Given the description of an element on the screen output the (x, y) to click on. 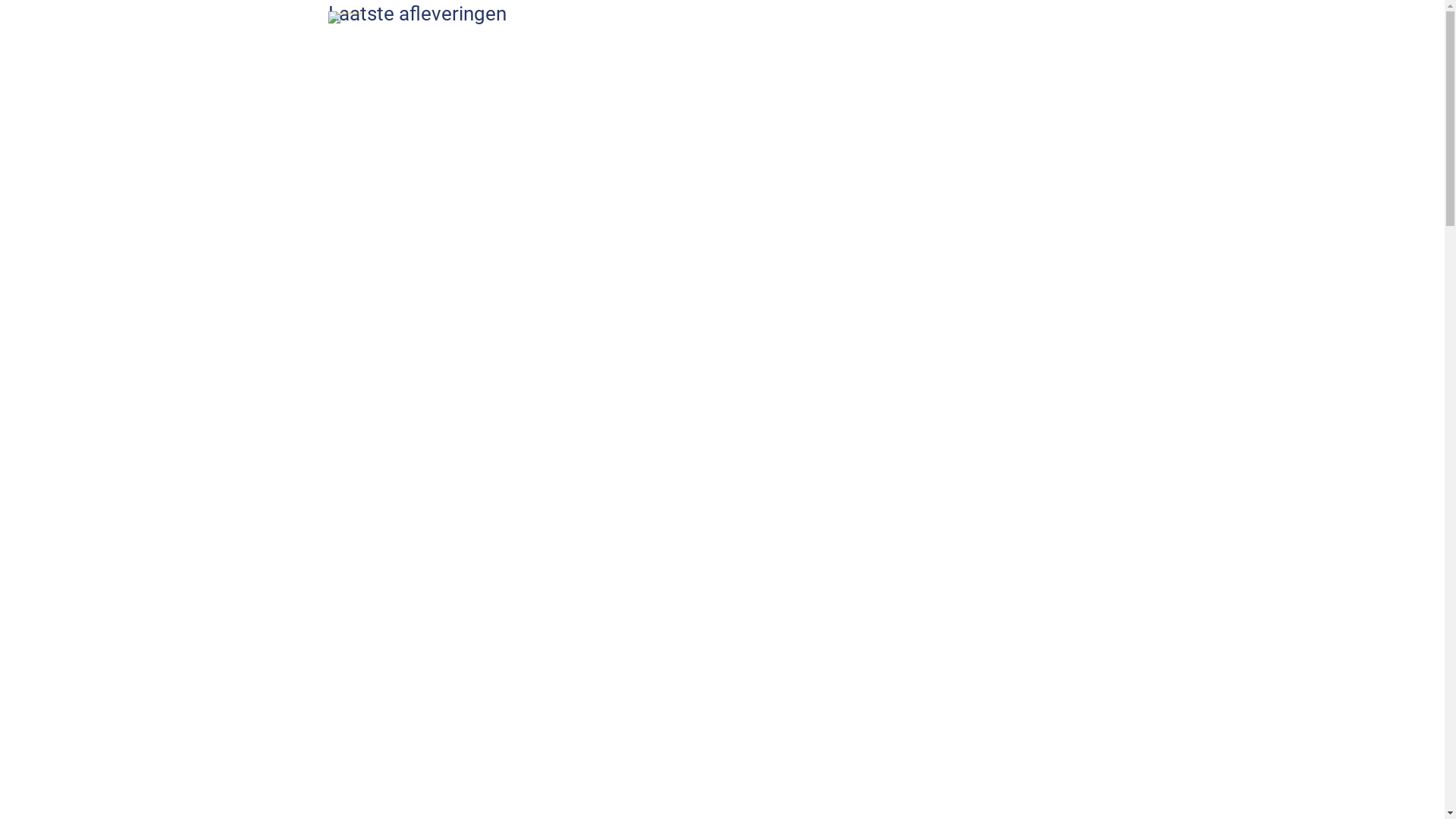
Spotify Element type: hover (1055, 52)
Instagram Element type: hover (1035, 52)
AFLEVERINGEN Element type: text (628, 51)
Beetweters Element type: hover (343, 17)
HOME Element type: text (541, 51)
OVER ONS Element type: text (728, 51)
Podcast Element type: hover (1097, 52)
CONTACT Element type: text (812, 51)
Facebook Element type: hover (1014, 52)
RSS Element type: hover (1076, 52)
